Given the description of an element on the screen output the (x, y) to click on. 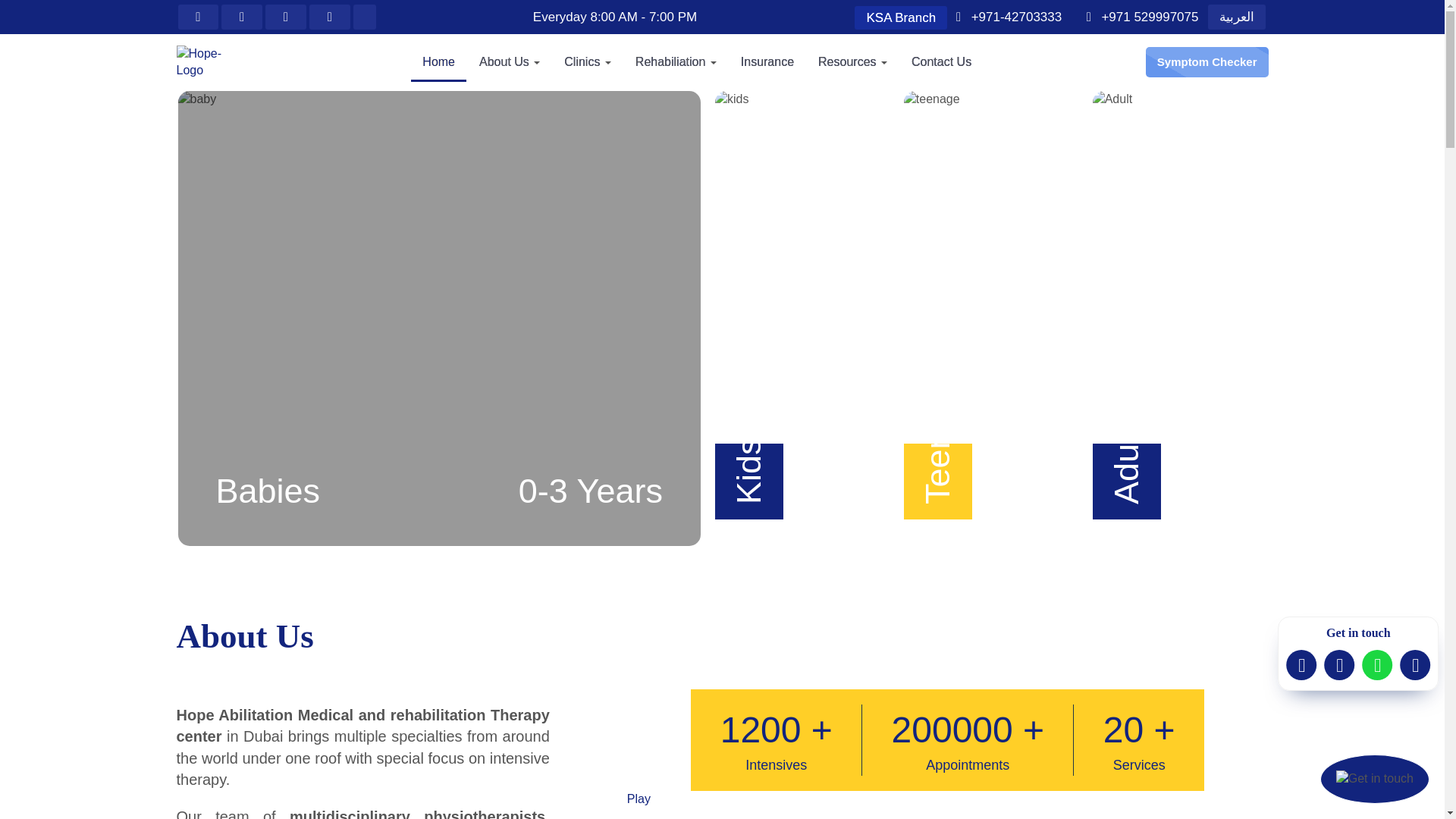
Home (437, 61)
Clinics (588, 61)
About Us (509, 61)
Rehabiliation (676, 61)
KSA Branch (900, 17)
About Us (509, 61)
Clinics (588, 61)
Resources (852, 61)
Home (437, 61)
Rehabiliation (676, 61)
